Given the description of an element on the screen output the (x, y) to click on. 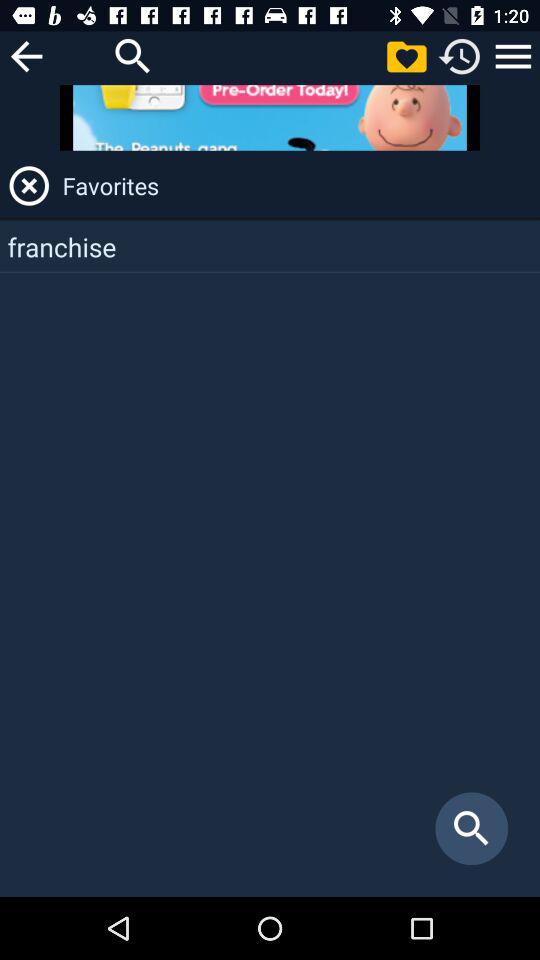
favorite folder (406, 56)
